Given the description of an element on the screen output the (x, y) to click on. 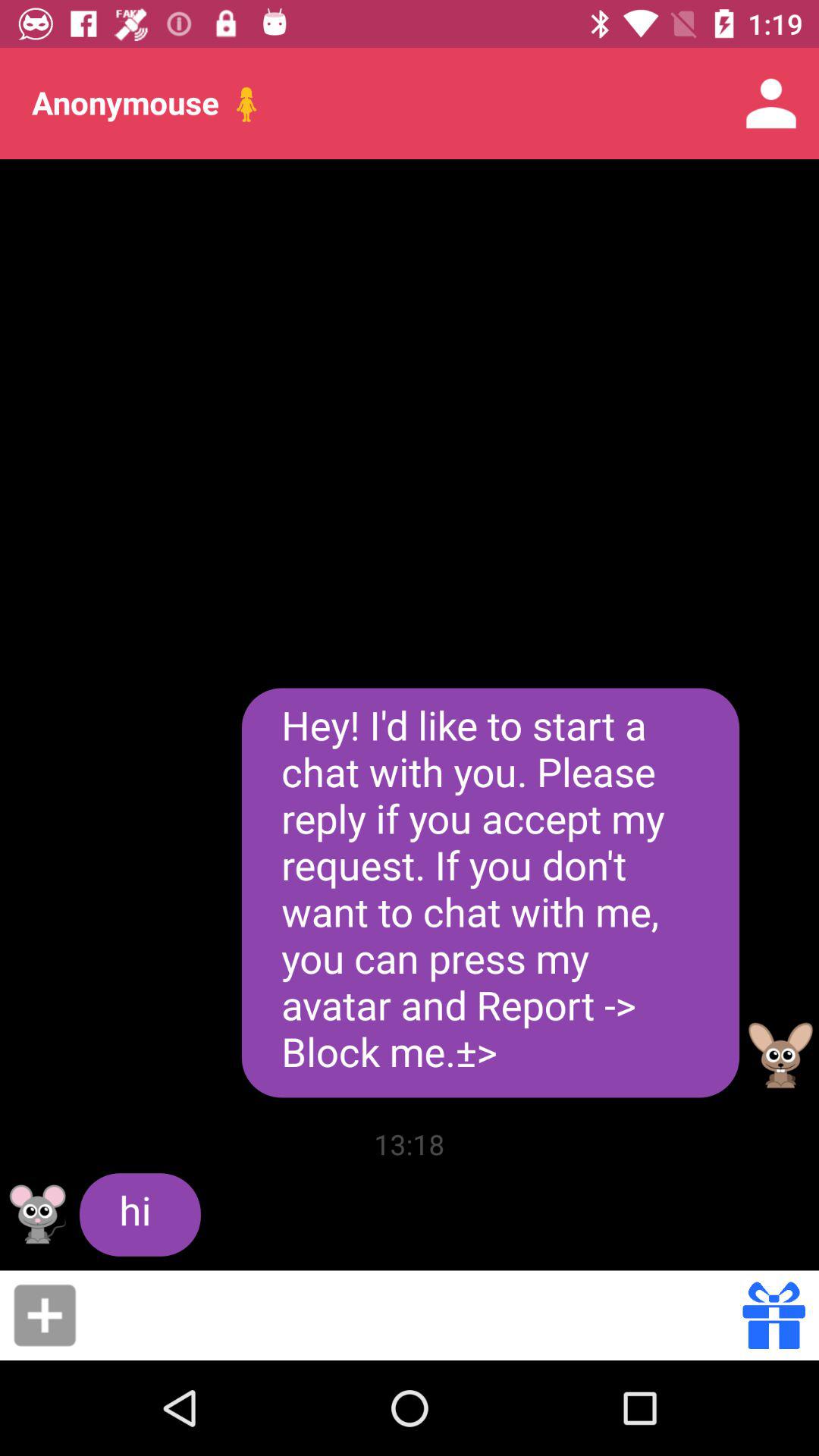
turn off icon next to the hi  icon (409, 1144)
